Given the description of an element on the screen output the (x, y) to click on. 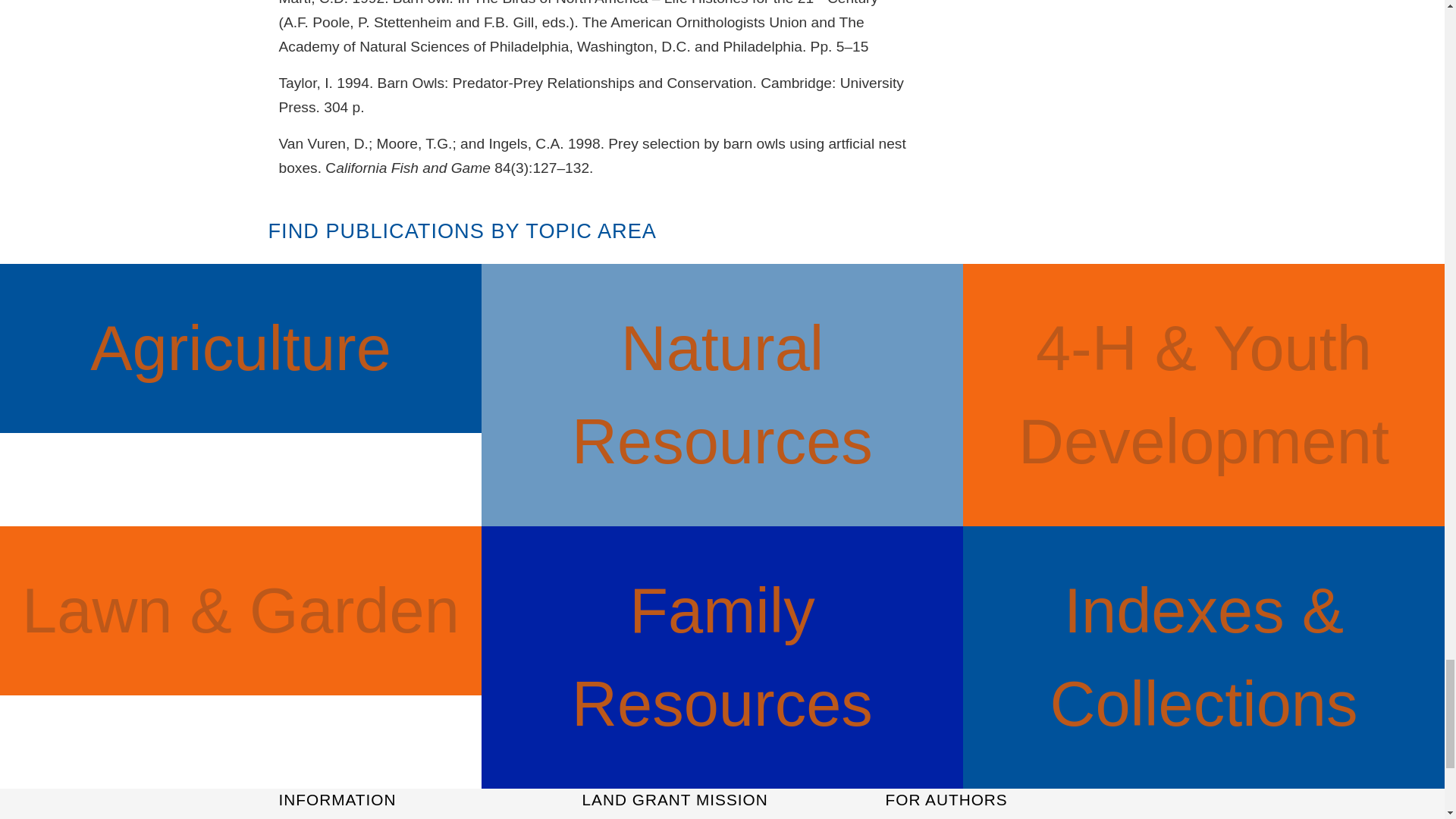
EDIS Blog (305, 818)
EDIS Blog (305, 818)
Natural Resources (722, 394)
Author Resources (945, 818)
Information for Authors (945, 818)
Family Resources (722, 657)
Agriculture (240, 348)
